Given the description of an element on the screen output the (x, y) to click on. 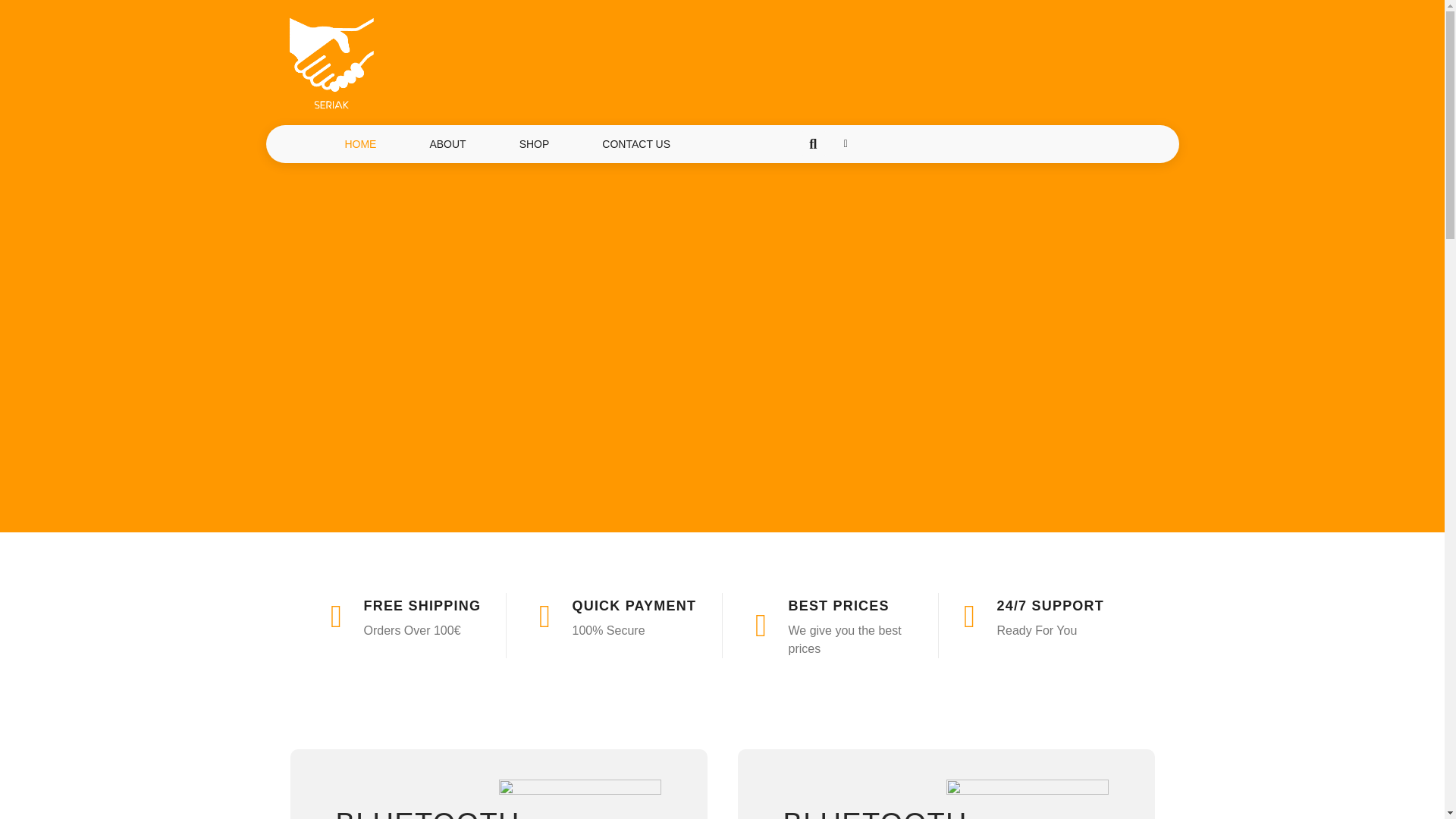
SHOP (533, 143)
HOME (360, 143)
ABOUT (446, 143)
CONTACT US (635, 143)
